Given the description of an element on the screen output the (x, y) to click on. 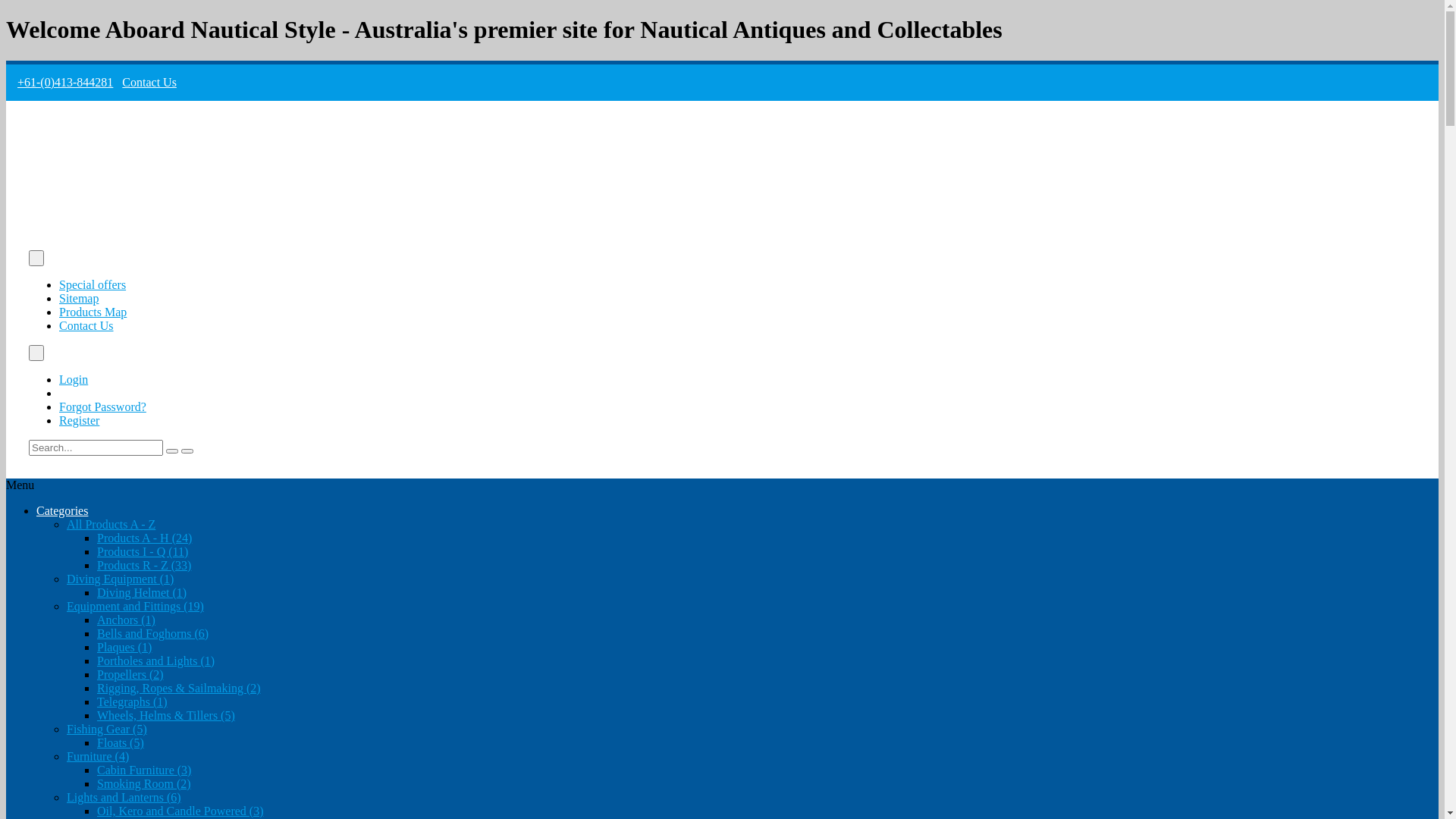
Plaques (1) Element type: text (124, 646)
Products R - Z (33) Element type: text (144, 564)
Smoking Room (2) Element type: text (144, 783)
Advanced Search Element type: hover (187, 450)
  Element type: text (35, 352)
Bells and Foghorns (6) Element type: text (152, 633)
Anchors (1) Element type: text (126, 619)
Fishing Gear (5) Element type: text (106, 728)
Floats (5) Element type: text (120, 742)
Equipment and Fittings (19) Element type: text (134, 605)
Lights and Lanterns (6) Element type: text (123, 796)
Furniture (4) Element type: text (97, 755)
Rigging, Ropes & Sailmaking (2) Element type: text (178, 687)
  Element type: text (35, 258)
Contact Us Element type: text (86, 325)
Telegraphs (1) Element type: text (132, 701)
+61-(0)413-844281 Element type: text (64, 81)
Products I - Q (11) Element type: text (142, 551)
Forgot Password? Element type: text (102, 406)
Sitemap Element type: text (78, 297)
Login Element type: text (73, 379)
Cabin Furniture (3) Element type: text (144, 769)
Wheels, Helms & Tillers (5) Element type: text (166, 715)
Diving Equipment (1) Element type: text (119, 578)
Oil, Kero and Candle Powered (3) Element type: text (180, 810)
Categories Element type: text (61, 510)
Portholes and Lights (1) Element type: text (155, 660)
Diving Helmet (1) Element type: text (141, 592)
Products A - H (24) Element type: text (144, 537)
All Products A - Z Element type: text (110, 523)
Register Element type: text (79, 420)
Propellers (2) Element type: text (130, 674)
Special offers Element type: text (92, 284)
Contact Us Element type: text (149, 81)
Products Map Element type: text (92, 311)
